Given the description of an element on the screen output the (x, y) to click on. 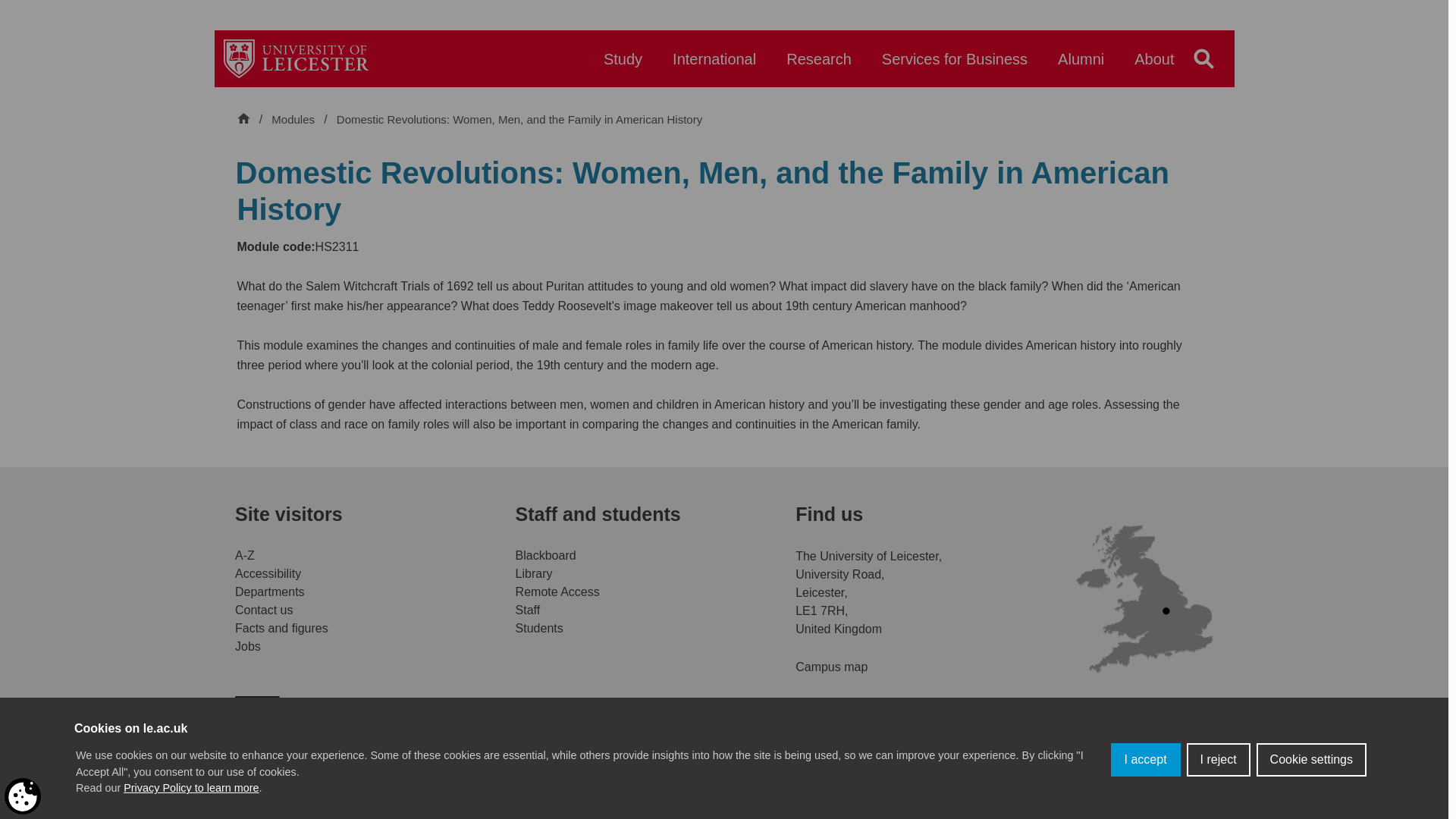
Cookie settings (1311, 802)
Study (623, 65)
Return to homepage (295, 58)
Modules (293, 119)
I accept (1145, 816)
I reject (1218, 811)
